Given the description of an element on the screen output the (x, y) to click on. 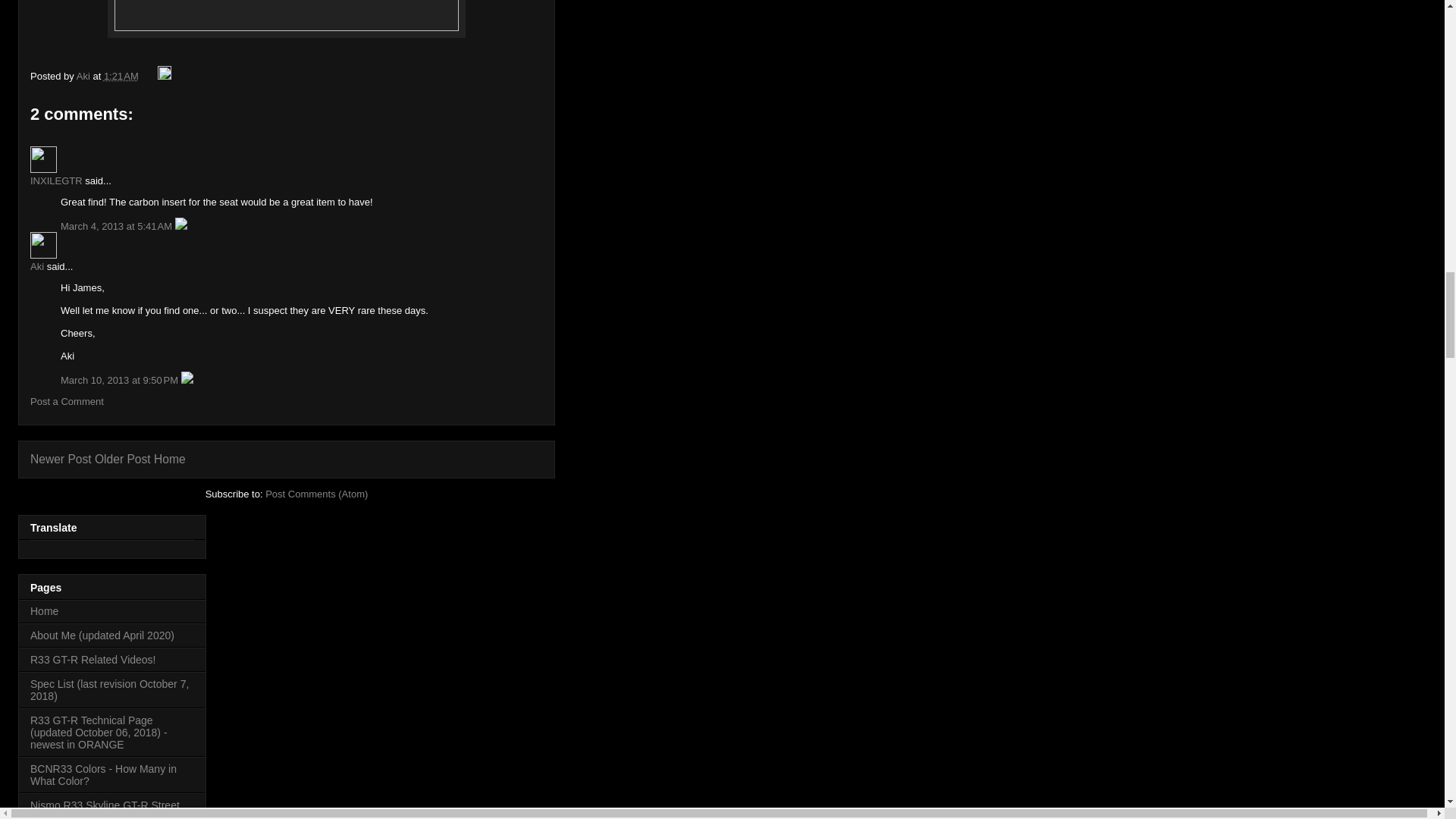
Edit Post (164, 75)
Aki (43, 244)
Post a Comment (66, 401)
Aki (85, 75)
Email Post (149, 75)
Older Post (122, 459)
Home (44, 611)
comment permalink (120, 379)
Aki (36, 266)
Older Post (122, 459)
R33 GT-R Related Videos! (92, 659)
Newer Post (60, 459)
Newer Post (60, 459)
BCNR33 Colors - How Many in What Color? (103, 774)
